Given the description of an element on the screen output the (x, y) to click on. 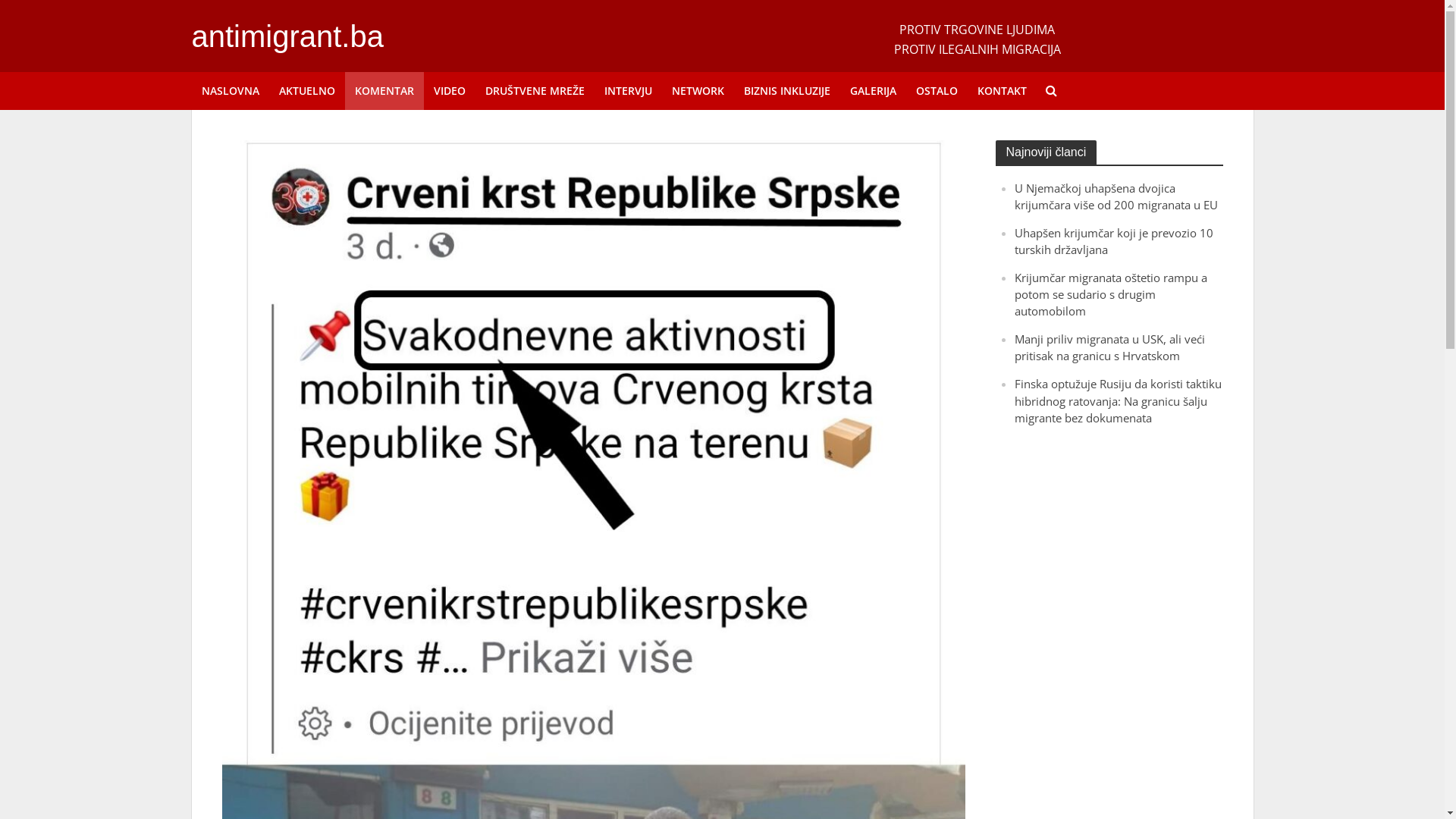
GALERIJA Element type: text (873, 90)
INTERVJU Element type: text (628, 90)
AKTUELNO Element type: text (306, 90)
KOMENTAR Element type: text (383, 90)
VIDEO Element type: text (448, 90)
NASLOVNA Element type: text (229, 90)
NETWORK Element type: text (697, 90)
BIZNIS INKLUZIJE Element type: text (787, 90)
OSTALO Element type: text (935, 90)
KONTAKT Element type: text (1001, 90)
antimigrant.ba Element type: text (286, 36)
